Given the description of an element on the screen output the (x, y) to click on. 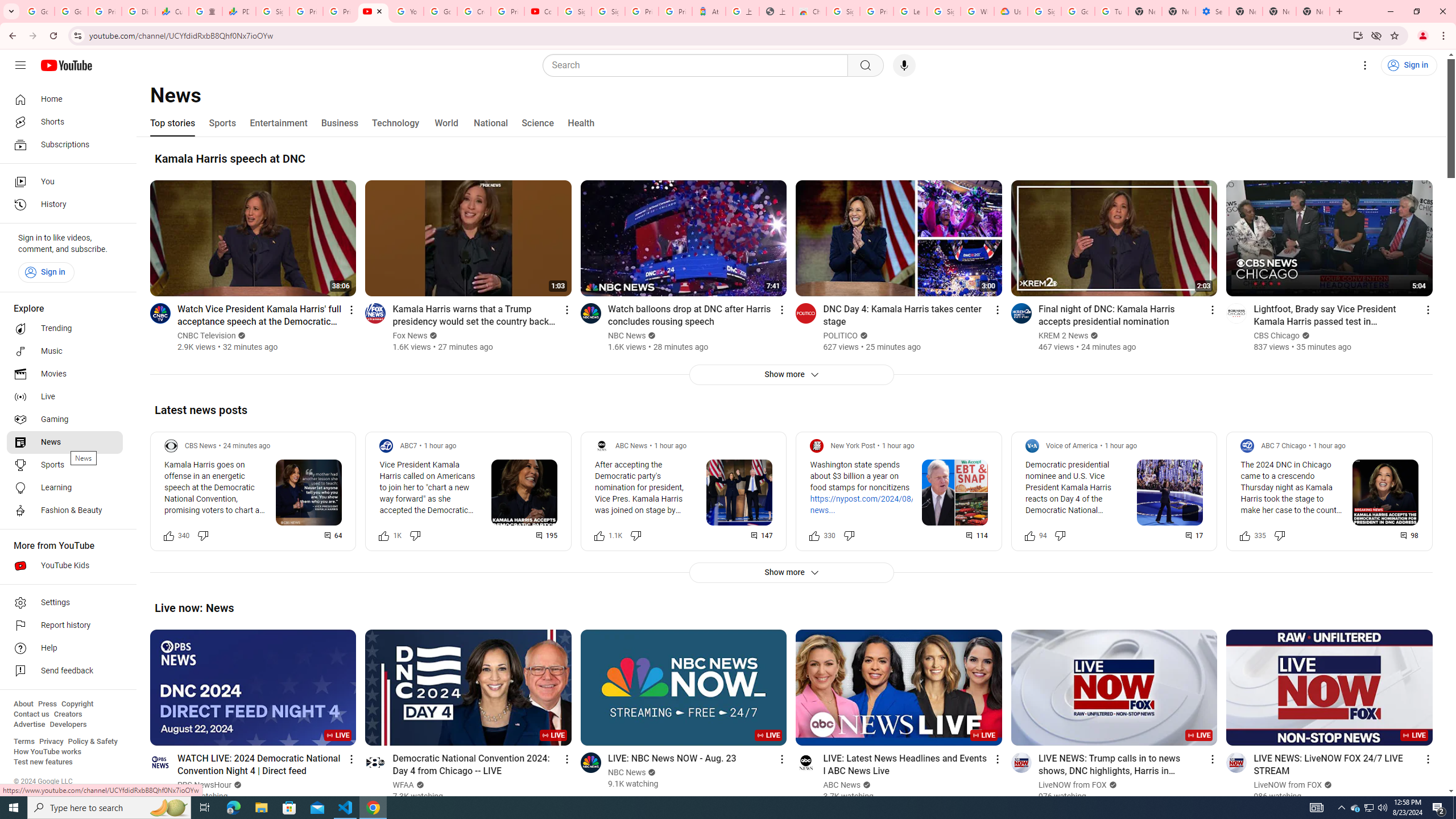
Live (64, 396)
New Tab (1313, 11)
Like this post along with 1,124 other people (598, 534)
CBS Chicago (1276, 335)
Guide (20, 65)
Go to channel (1236, 762)
Home (64, 99)
Fox News (410, 335)
Movies (64, 373)
Action menu (1427, 758)
